Given the description of an element on the screen output the (x, y) to click on. 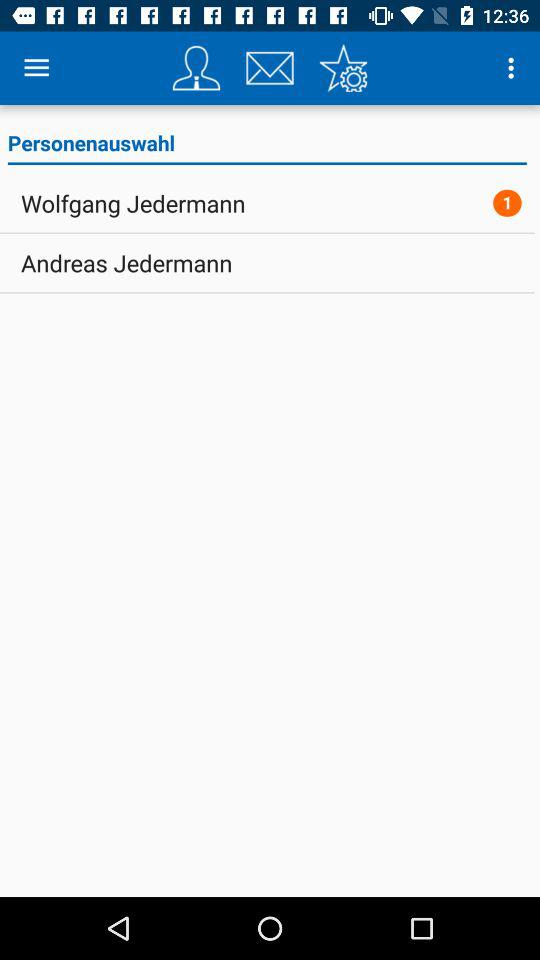
turn on the personenauswahl (266, 146)
